Given the description of an element on the screen output the (x, y) to click on. 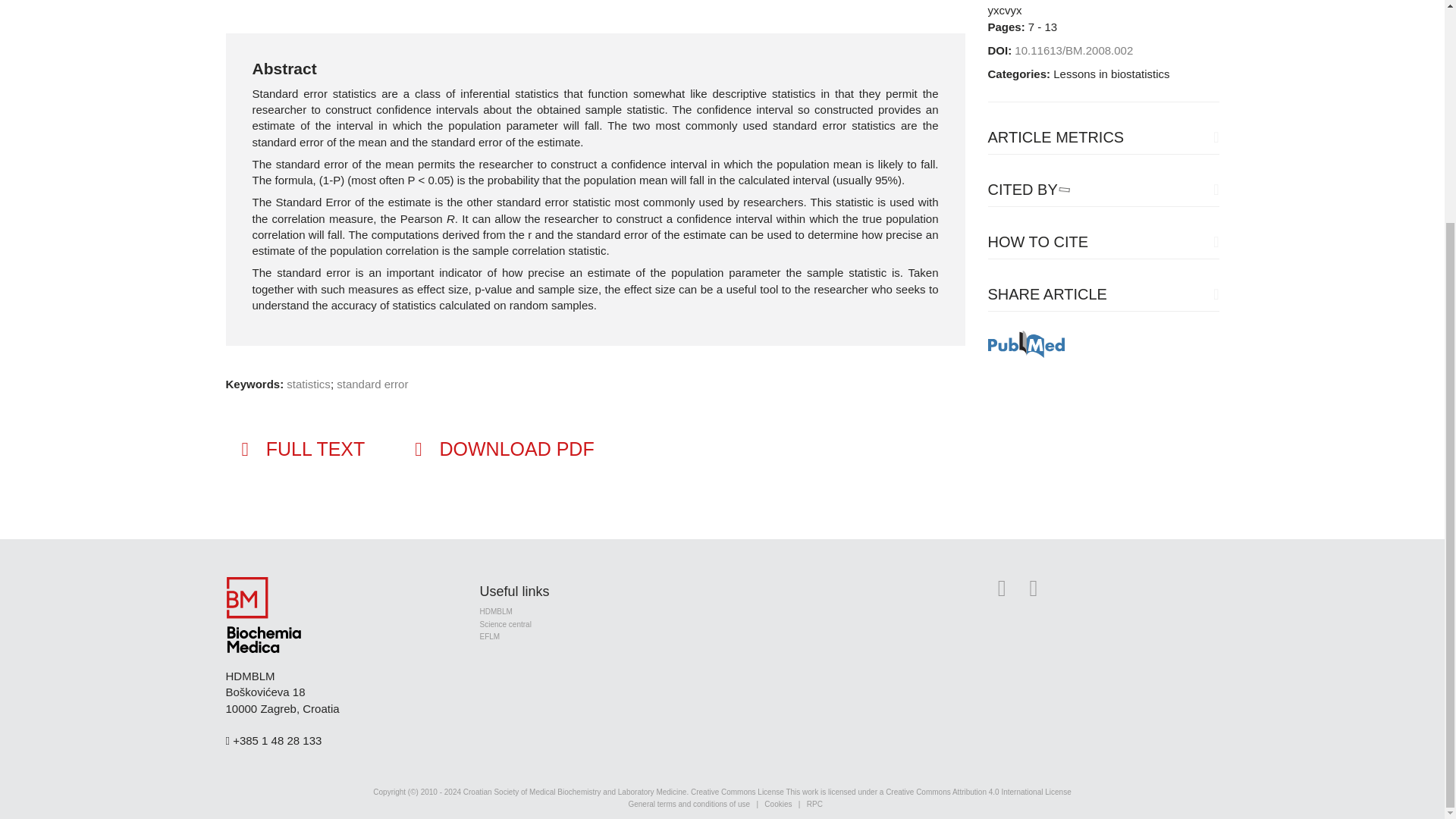
Search articles by keyword: standard error (371, 383)
DOWNLOAD PDF (501, 449)
Cookies (778, 804)
Search articles by keyword: statistics (308, 383)
General terms and conditions of use (688, 804)
standard error (371, 383)
Journal RSS feed (1001, 592)
Follow us on Facebook (1033, 592)
FULL TEXT (301, 449)
statistics (308, 383)
